Given the description of an element on the screen output the (x, y) to click on. 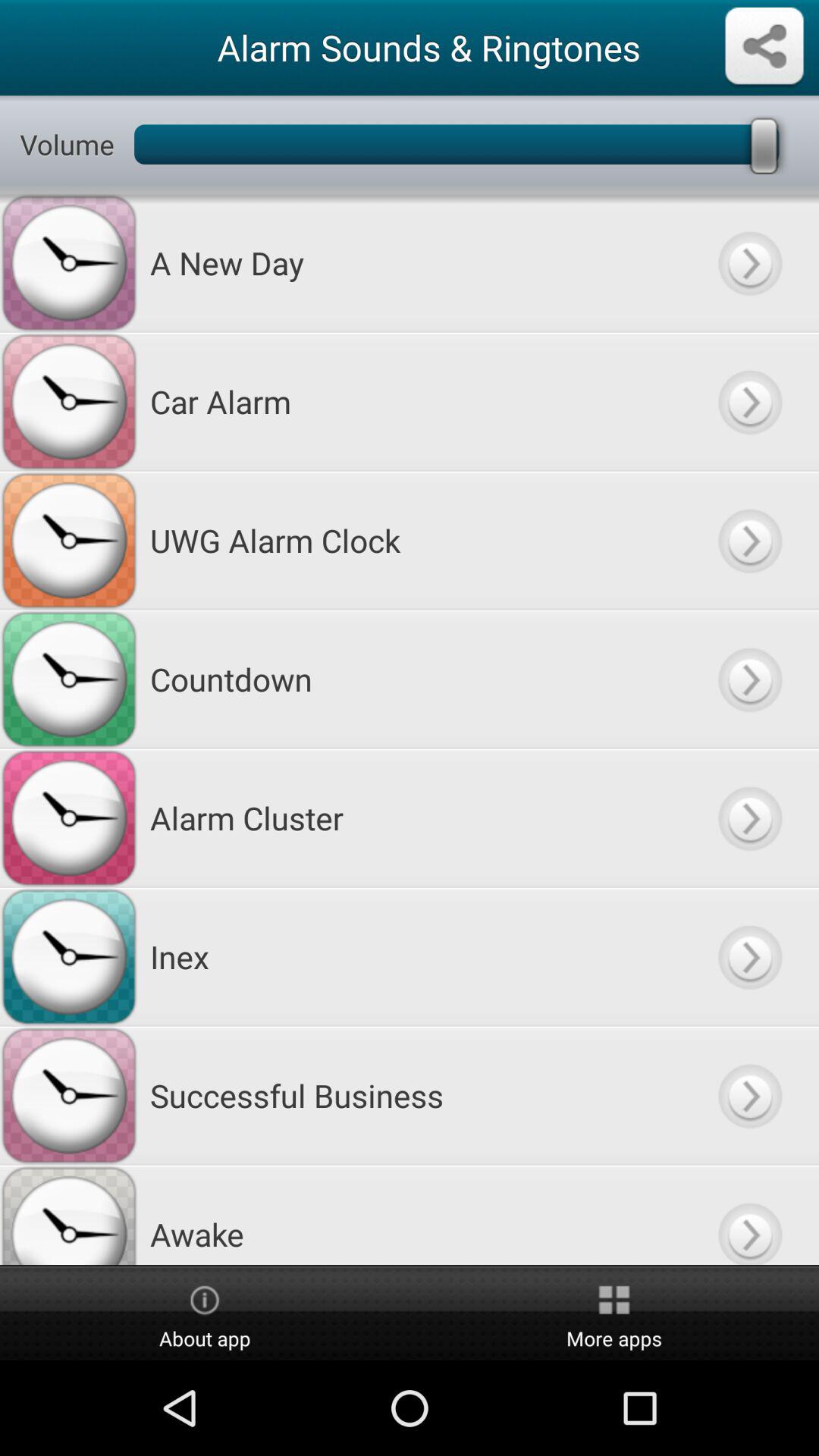
go to next (749, 262)
